Given the description of an element on the screen output the (x, y) to click on. 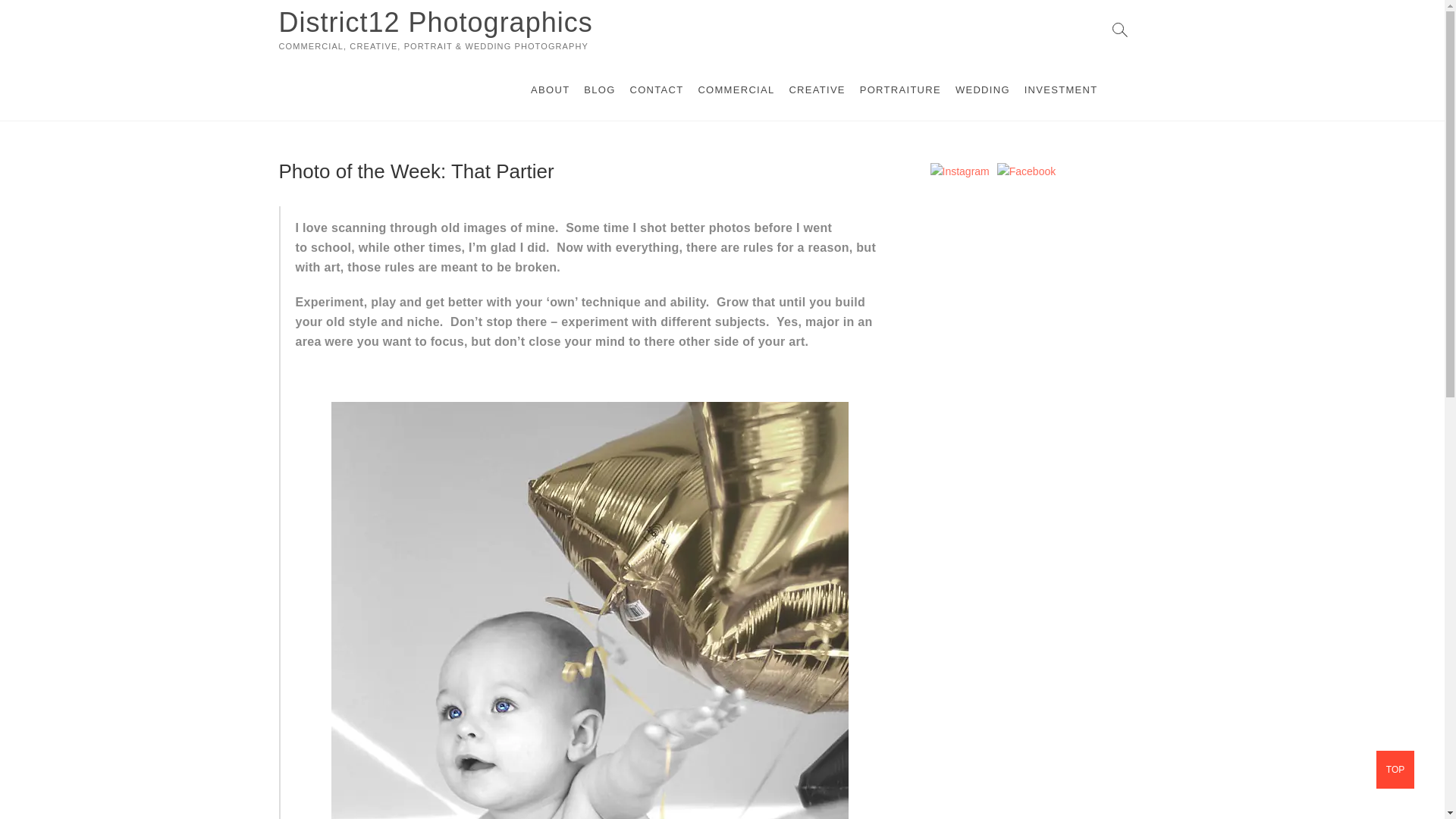
District12 Photographics by MeeChelli Photography (1026, 170)
TOP (1394, 769)
District Twelve Photographics (959, 170)
CREATIVE (815, 89)
District12 Photographics (435, 22)
WEDDING (982, 89)
COMMERCIAL (735, 89)
District12 Photographics (435, 22)
PORTRAITURE (900, 89)
INVESTMENT (1060, 89)
